Given the description of an element on the screen output the (x, y) to click on. 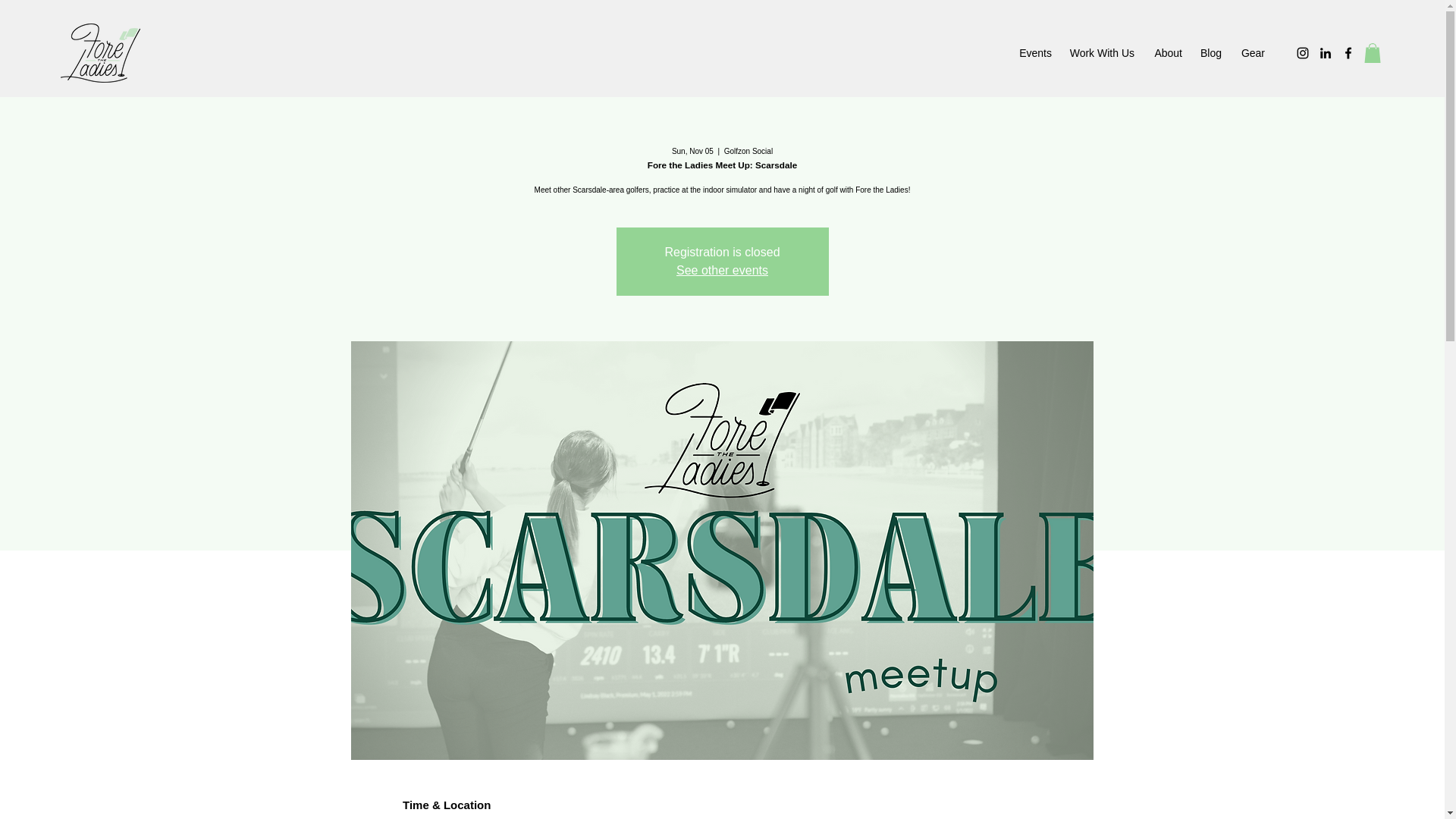
See other events (722, 269)
Events (1034, 52)
Work With Us (1100, 52)
Blog (1208, 52)
About (1165, 52)
